Given the description of an element on the screen output the (x, y) to click on. 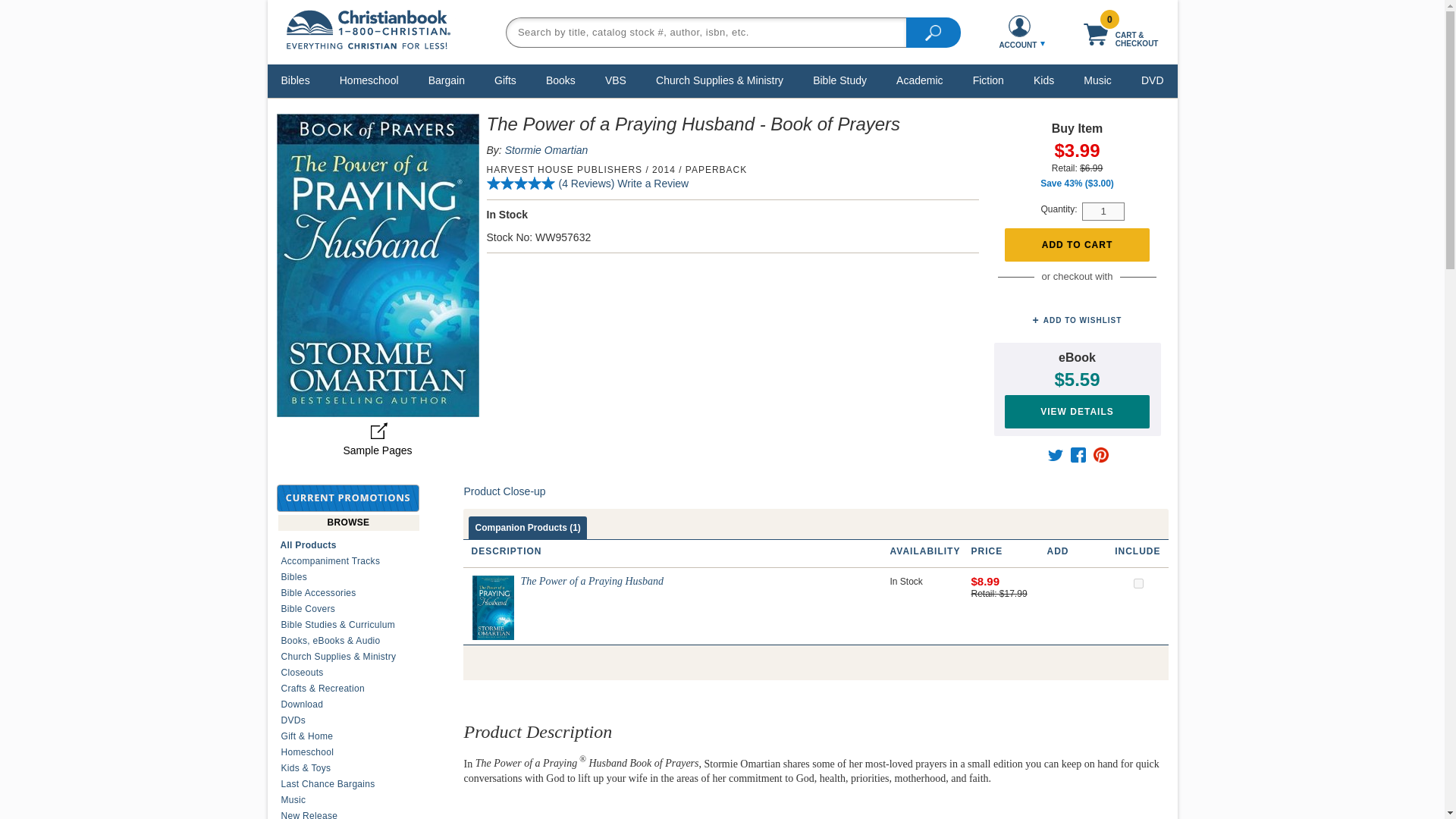
Write a Review (652, 183)
Bible Study (840, 79)
Stormie Omartian (546, 150)
DVD (1152, 79)
ACCOUNT (1019, 32)
Bargain (446, 79)
Homeschool (369, 79)
Place in Bookbag (1077, 245)
Kids (1043, 79)
Academic (919, 79)
